Given the description of an element on the screen output the (x, y) to click on. 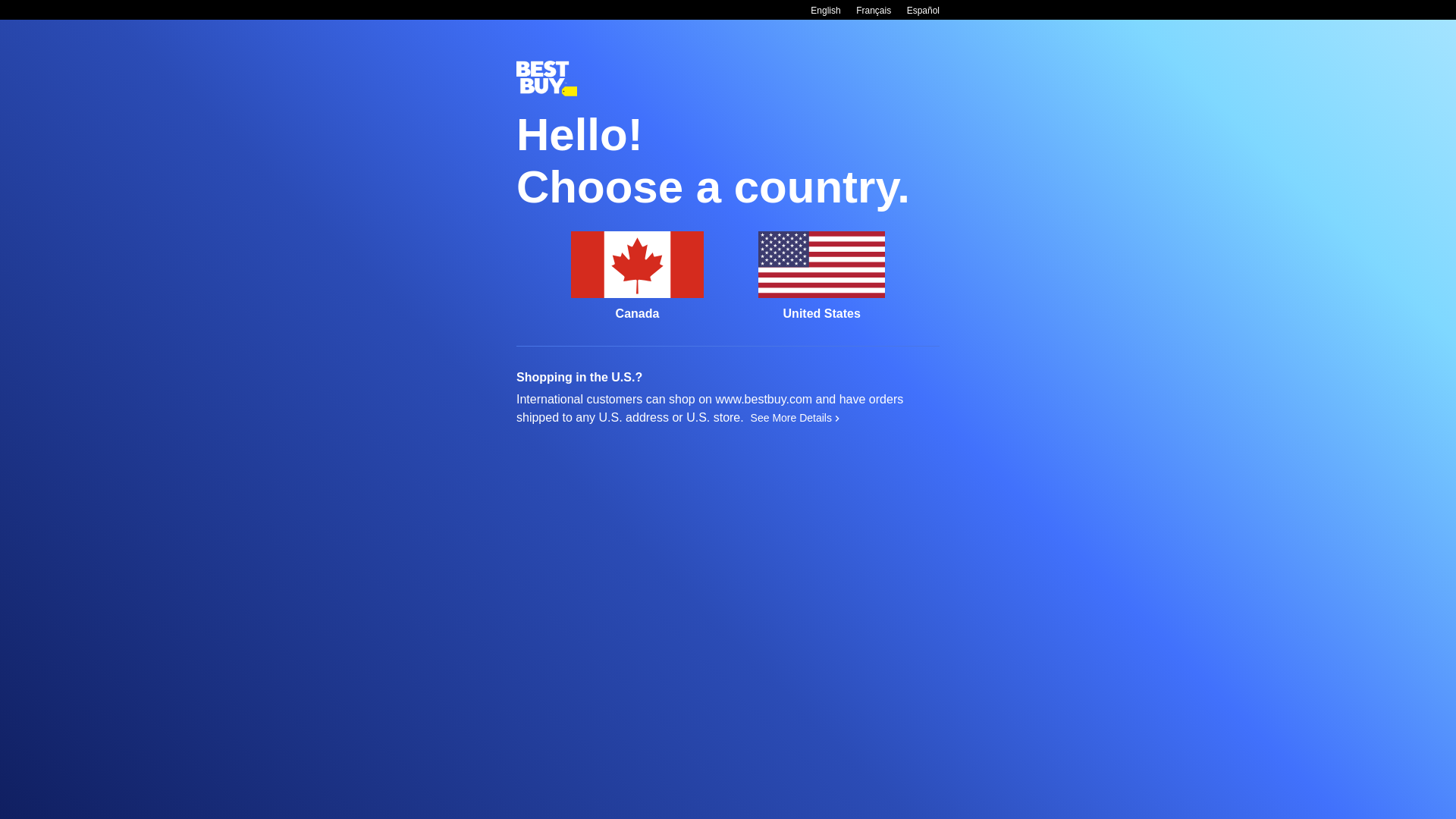
See More Details (795, 417)
Canada (637, 275)
United States (821, 275)
English (825, 10)
